Given the description of an element on the screen output the (x, y) to click on. 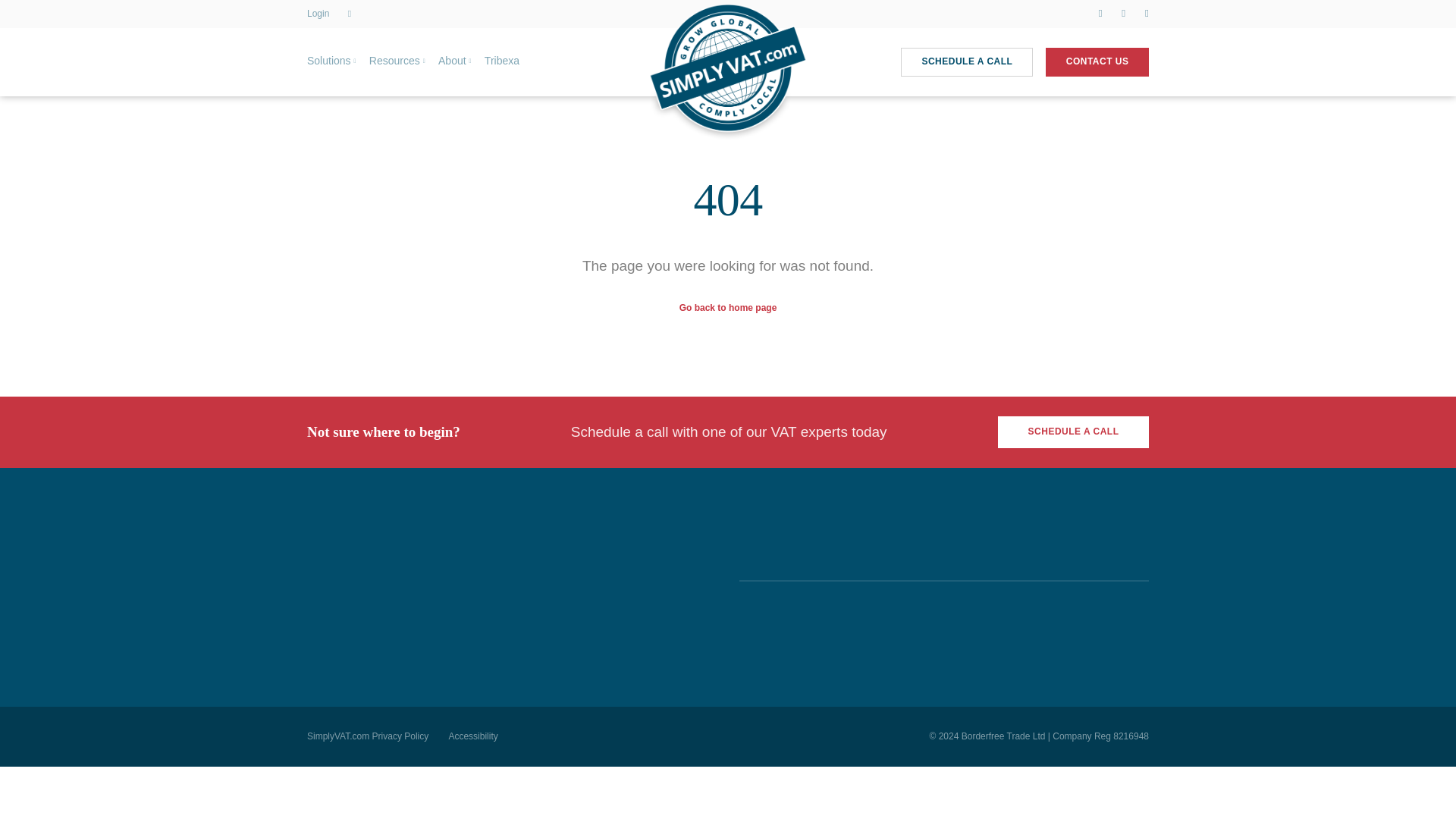
Subscribe (476, 635)
Accessibility (472, 736)
Login (318, 13)
SimplyVAT.com Privacy Policy (367, 736)
CONTACT US (1096, 61)
SCHEDULE A CALL (1072, 431)
Go back to home page (728, 307)
Tribexa (501, 60)
SCHEDULE A CALL (966, 61)
